Given the description of an element on the screen output the (x, y) to click on. 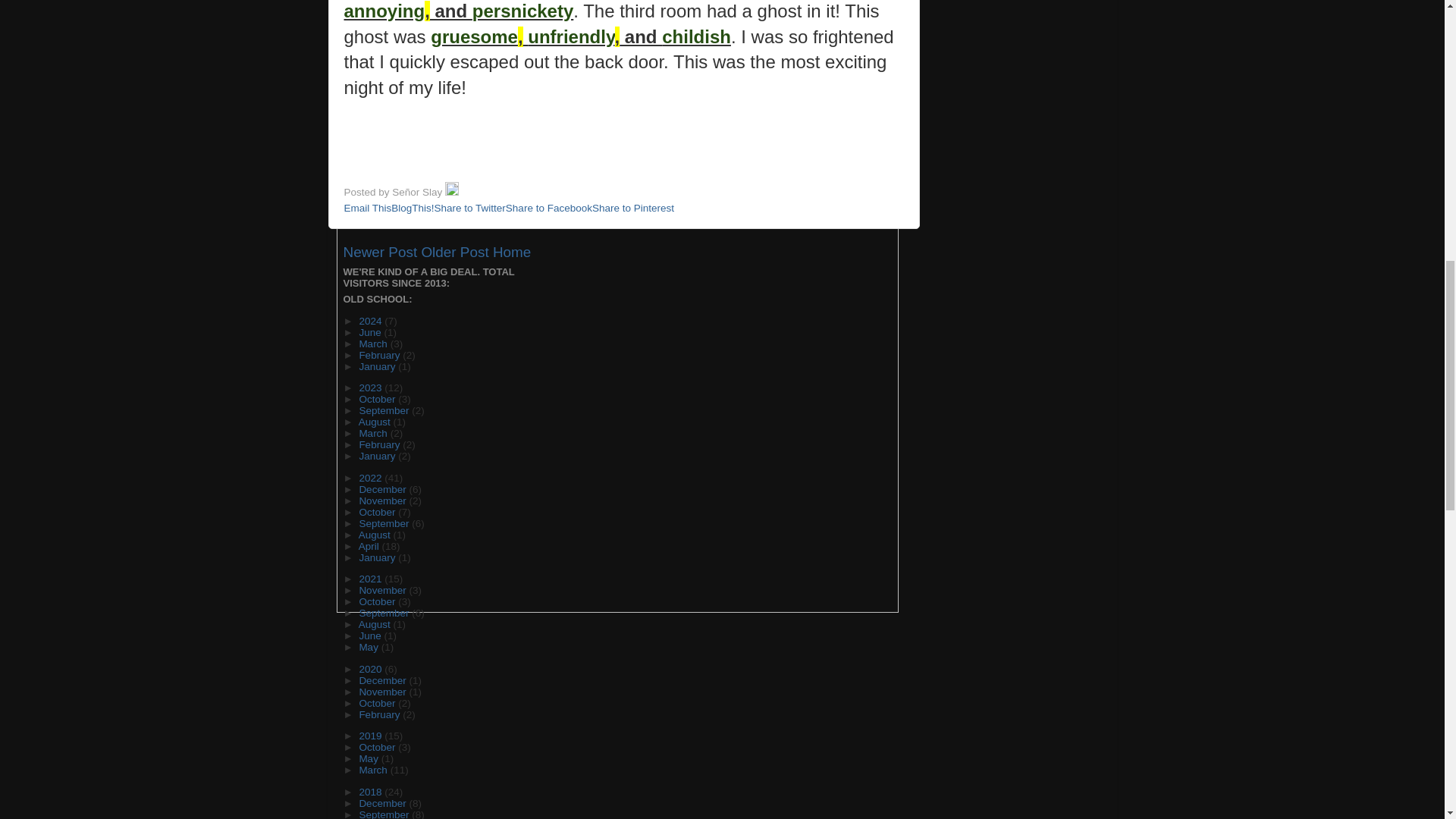
2024 (371, 320)
October (377, 398)
Older Post (453, 252)
Home (512, 252)
Share to Pinterest (633, 207)
2023 (371, 387)
BlogThis! (412, 207)
January (377, 455)
Share to Pinterest (633, 207)
Older Post (453, 252)
BlogThis! (412, 207)
January (377, 366)
Share to Twitter (469, 207)
Share to Facebook (548, 207)
Newer Post (379, 252)
